Given the description of an element on the screen output the (x, y) to click on. 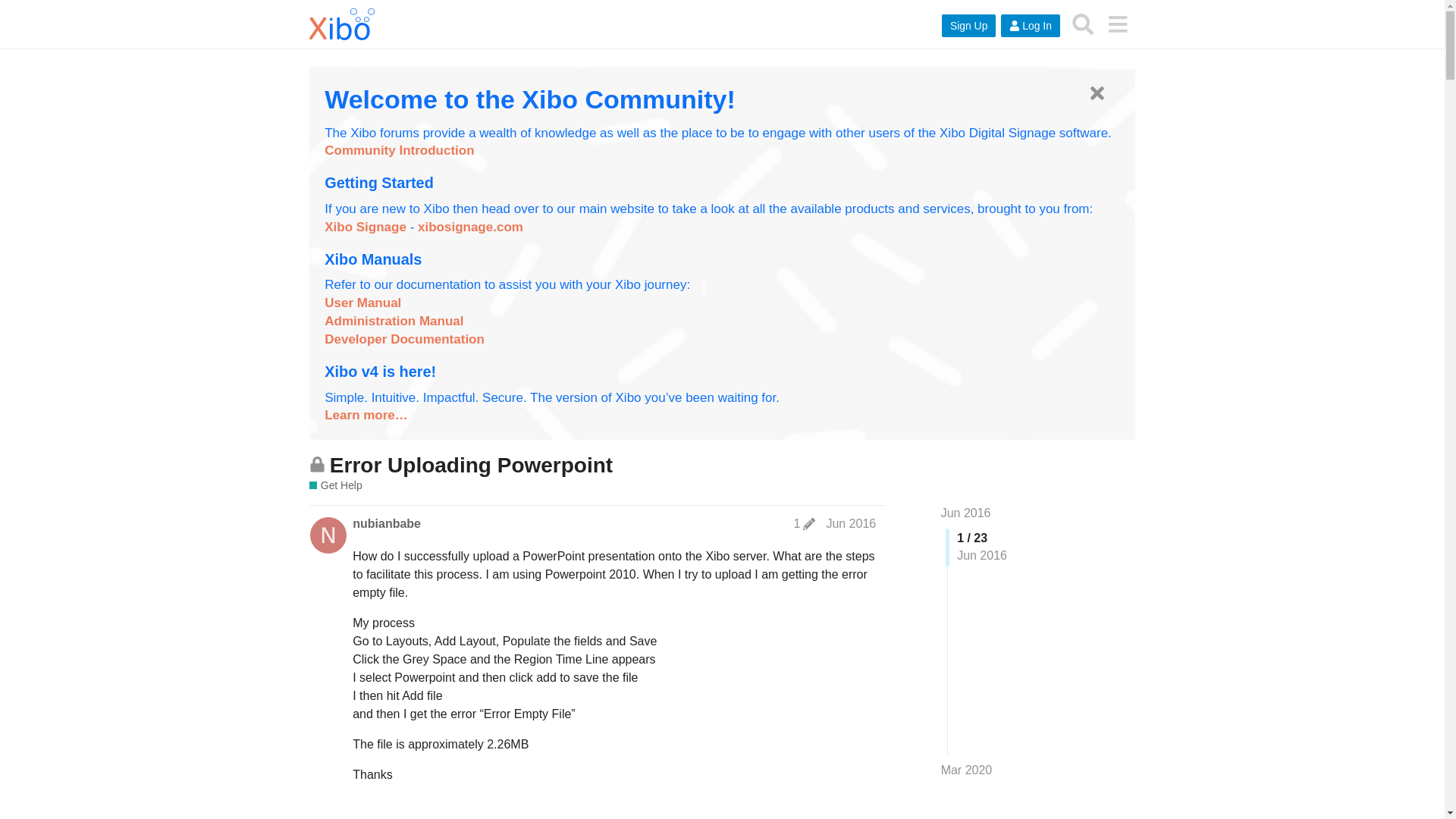
Post date (850, 522)
Reach out to fellow community members for help and support. (334, 485)
Community Introduction (399, 150)
like this post (835, 816)
1 (804, 523)
post last edited on Jun 20, 2016 7:20 pm (804, 523)
Xibo Signage (365, 227)
This topic is closed; it no longer accepts new replies (316, 464)
copy a link to this post to clipboard (869, 816)
Sign Up (968, 25)
Mar 2020 (966, 770)
menu (1117, 23)
xibosignage.com (469, 227)
Get Help (334, 485)
Search (1082, 23)
